Given the description of an element on the screen output the (x, y) to click on. 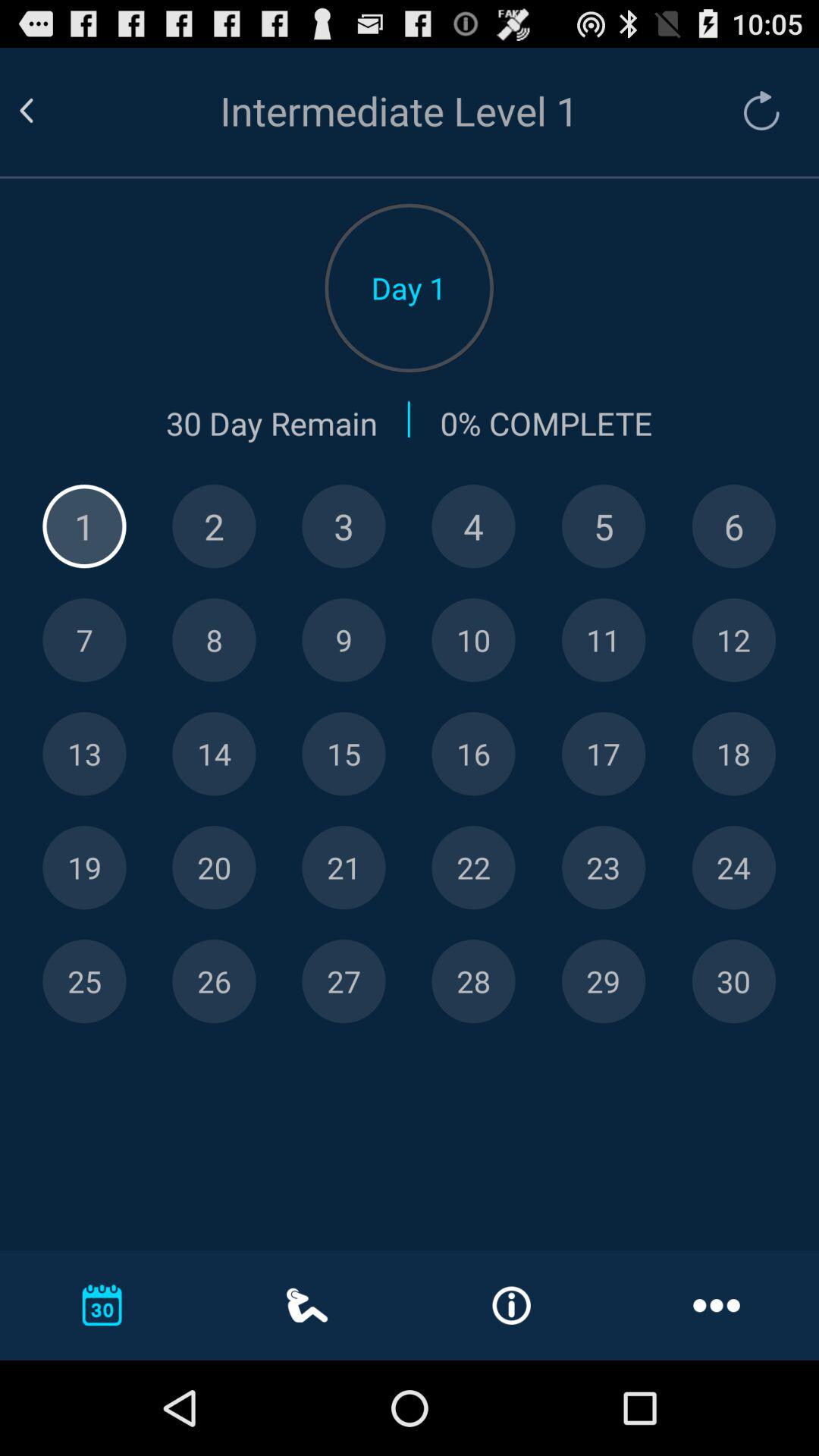
select number 7 (84, 639)
